Given the description of an element on the screen output the (x, y) to click on. 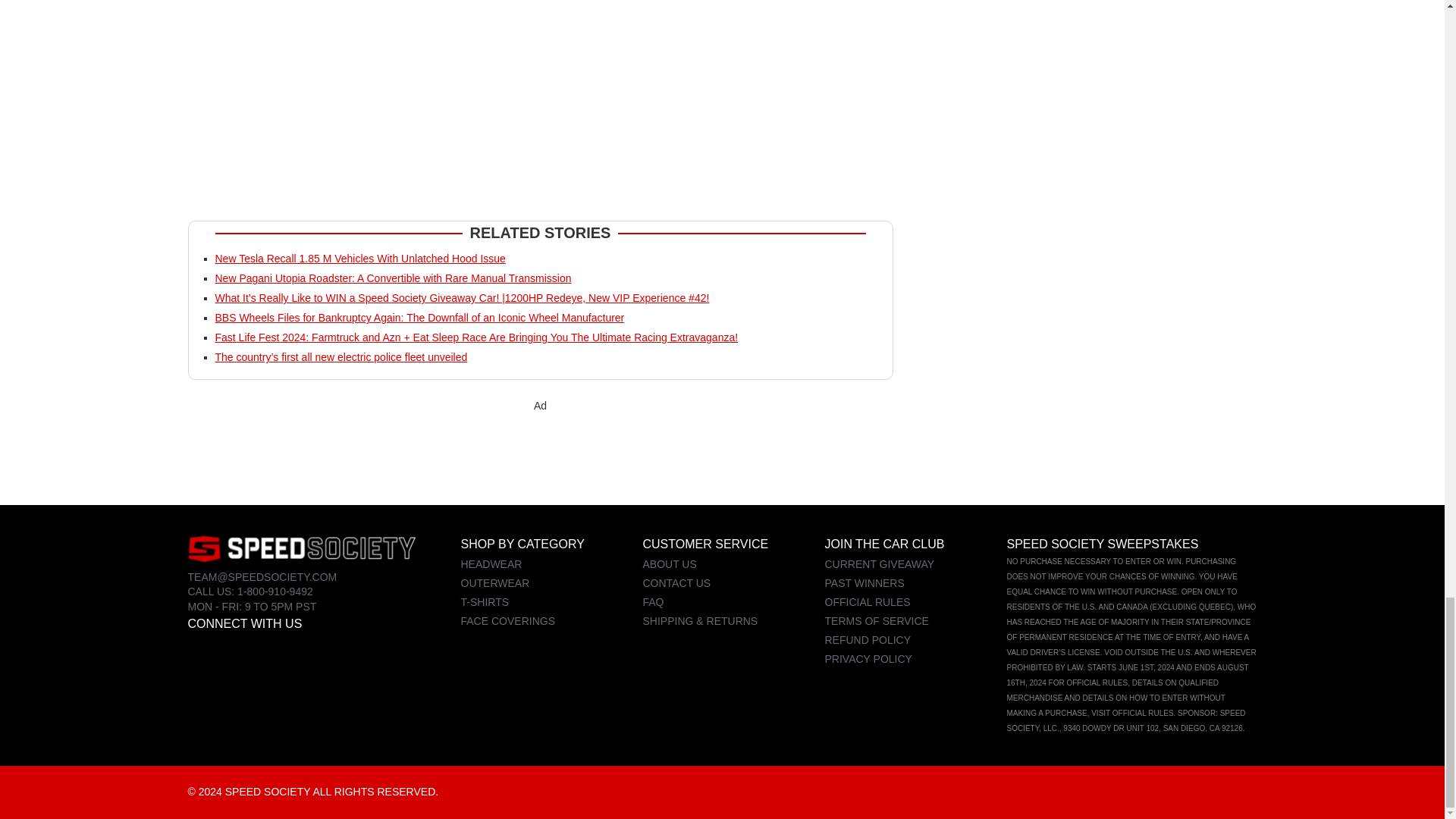
New Tesla Recall 1.85 M Vehicles With Unlatched Hood Issue (360, 258)
footer logo (300, 548)
